Given the description of an element on the screen output the (x, y) to click on. 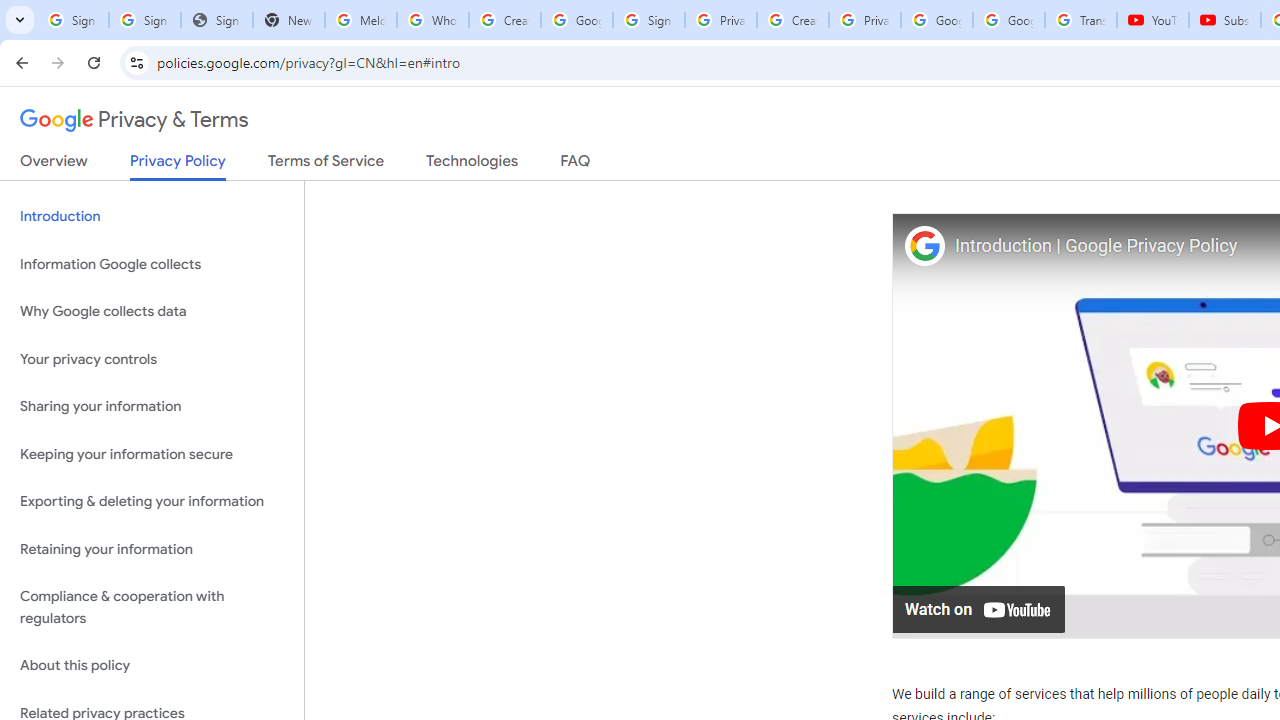
Exporting & deleting your information (152, 502)
New Tab (289, 20)
Photo image of Google (924, 244)
Who is my administrator? - Google Account Help (432, 20)
Retaining your information (152, 548)
Google Account (1008, 20)
Your privacy controls (152, 358)
Sign in - Google Accounts (72, 20)
Information Google collects (152, 263)
